Given the description of an element on the screen output the (x, y) to click on. 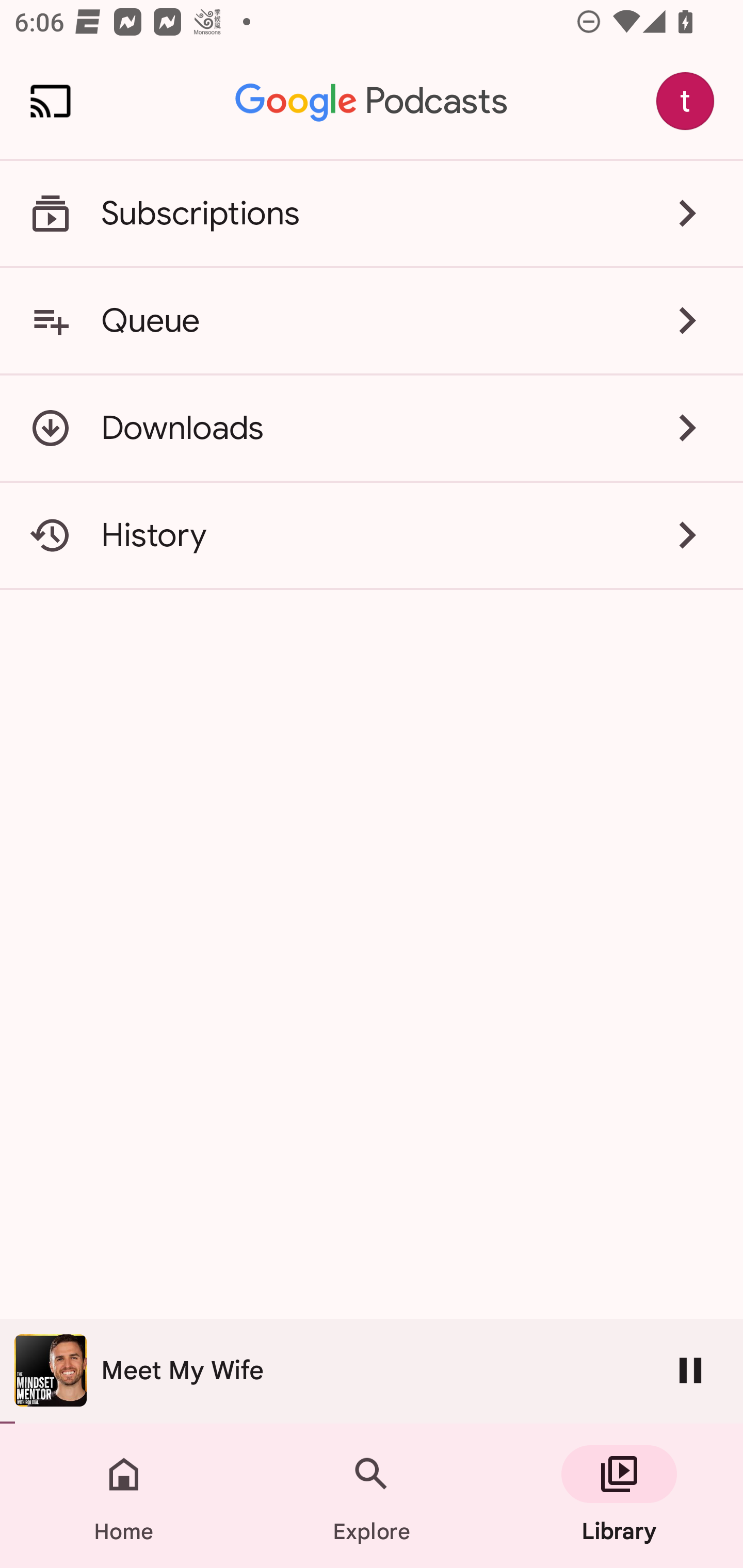
Cast. Disconnected (50, 101)
Subscriptions (371, 213)
Queue (371, 320)
Downloads (371, 427)
History (371, 535)
The Mindset Mentor Meet My Wife Pause 198.0 (371, 1370)
Pause (690, 1370)
Home (123, 1495)
Explore (371, 1495)
